Given the description of an element on the screen output the (x, y) to click on. 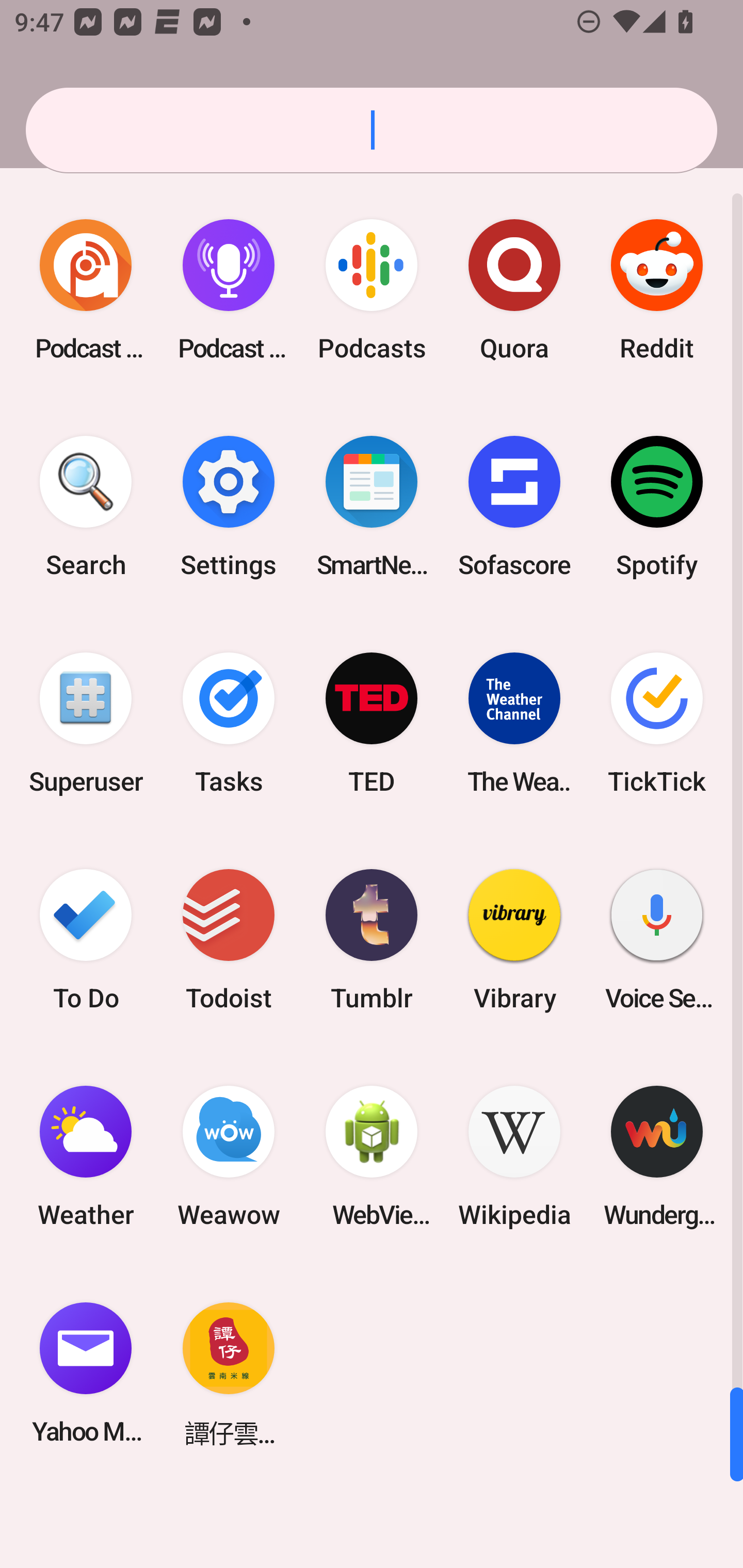
  Search apps (371, 130)
Podcast Addict (85, 289)
Podcast Player (228, 289)
Podcasts (371, 289)
Quora (514, 289)
Reddit (656, 289)
Search (85, 506)
Settings (228, 506)
SmartNews (371, 506)
Sofascore (514, 506)
Spotify (656, 506)
Superuser (85, 722)
Tasks (228, 722)
TED (371, 722)
The Weather Channel (514, 722)
TickTick (656, 722)
To Do (85, 939)
Todoist (228, 939)
Tumblr (371, 939)
Vibrary (514, 939)
Voice Search (656, 939)
Weather (85, 1156)
Weawow (228, 1156)
WebView Browser Tester (371, 1156)
Wikipedia (514, 1156)
Wunderground (656, 1156)
Yahoo Mail (85, 1373)
譚仔雲南米線 (228, 1373)
